Given the description of an element on the screen output the (x, y) to click on. 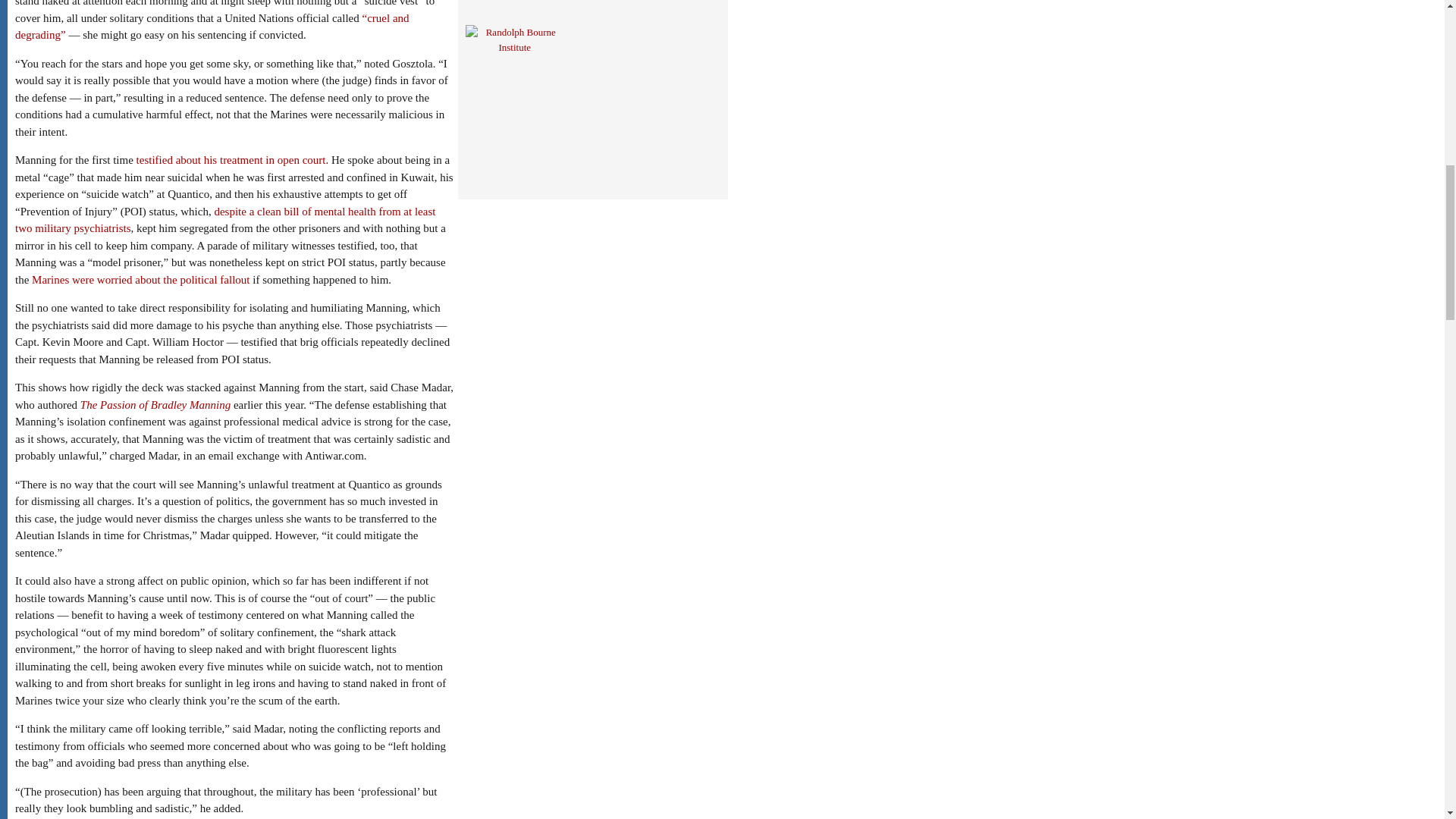
Marines were worried about the political fallout (140, 278)
testified about his treatment in open court (231, 159)
The Passion of Bradley Manning (155, 404)
